Given the description of an element on the screen output the (x, y) to click on. 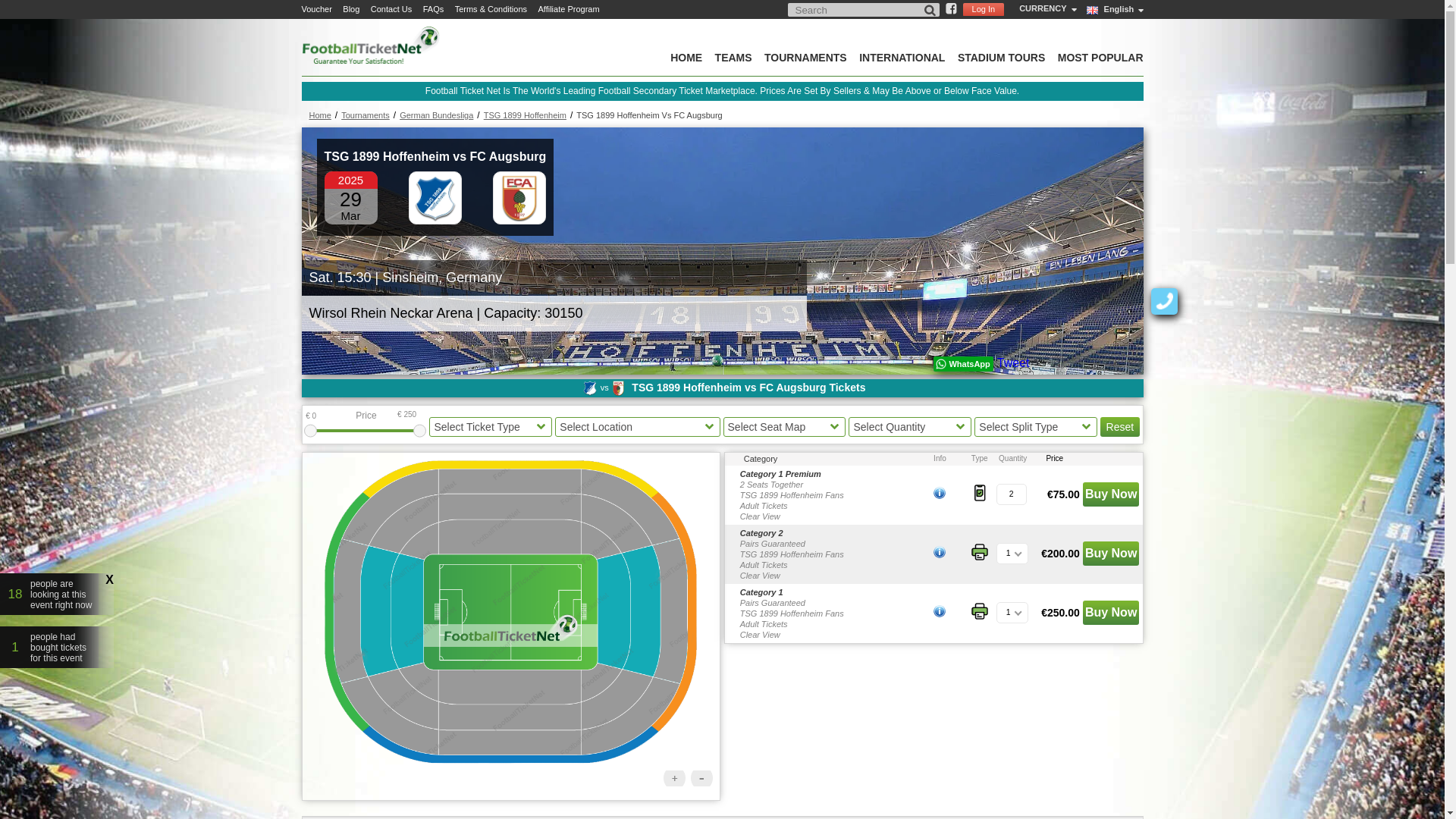
Blog (350, 8)
Teams (733, 57)
Home (685, 57)
250 (414, 414)
Buy Now (1110, 553)
CURRENCY (1044, 7)
Contact Us (391, 8)
FAQs (433, 8)
Affiliate Program (567, 8)
Most Popular (1100, 57)
Buy Now (1110, 612)
0 (323, 415)
Voucher (316, 8)
Buy Now (1110, 494)
Stadium Tours (1001, 57)
